Given the description of an element on the screen output the (x, y) to click on. 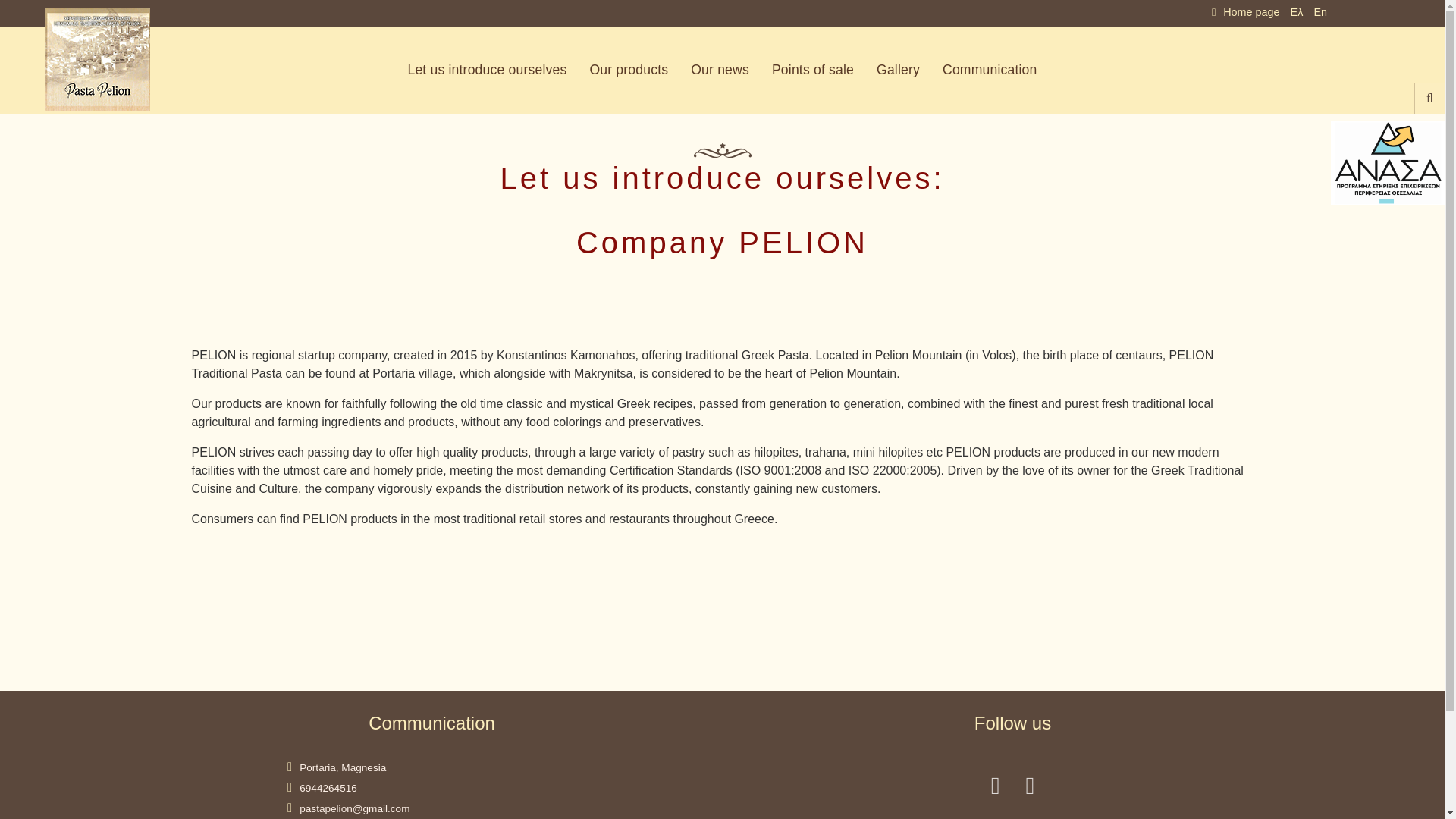
Points of sale (812, 69)
Our products (628, 69)
Our news (719, 69)
Home page (1246, 12)
Pelion - Pasta of Pelion (98, 59)
Let us introduce ourselves (487, 69)
Communication (989, 69)
